Given the description of an element on the screen output the (x, y) to click on. 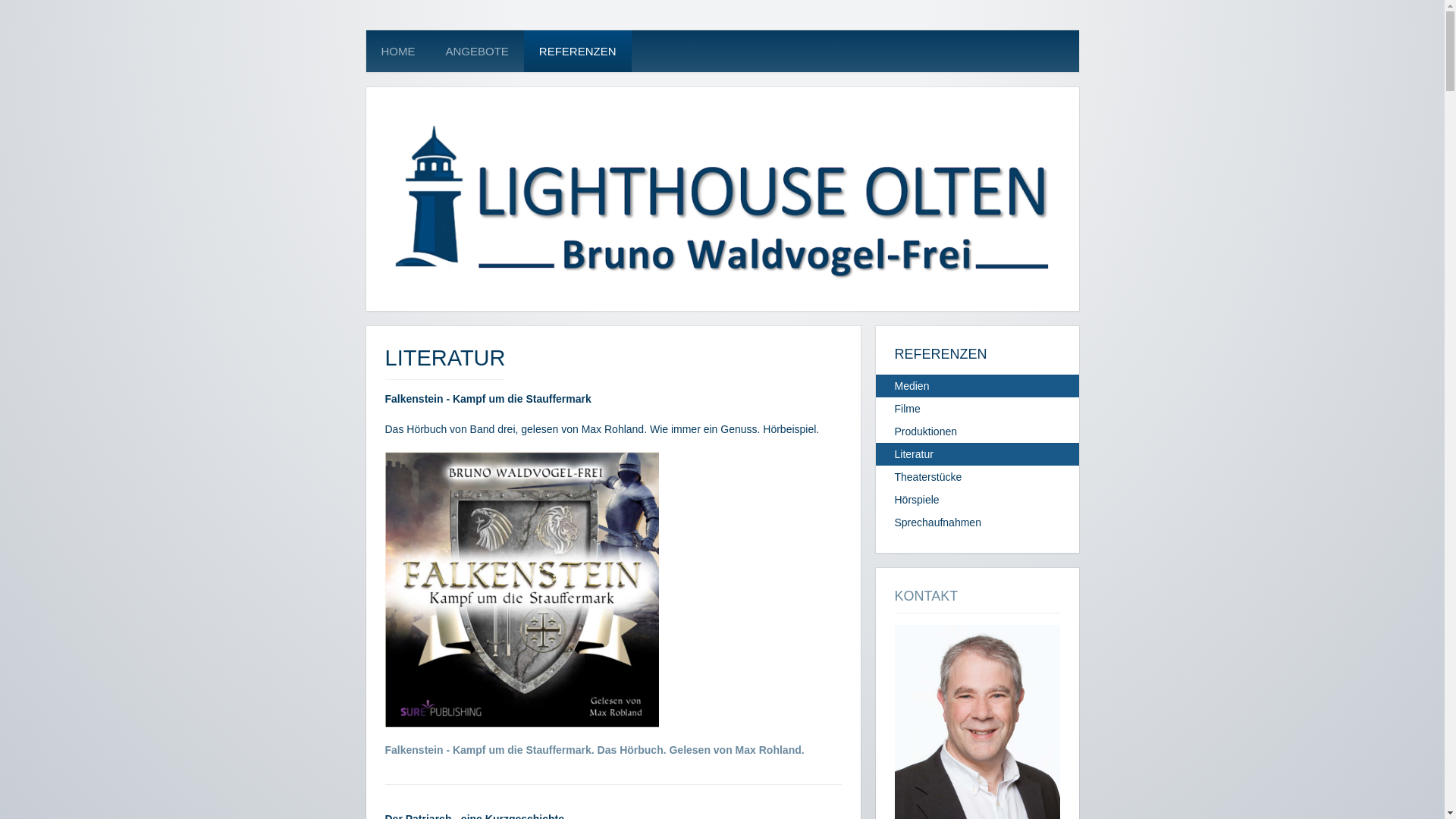
Medien Element type: text (976, 385)
Produktionen Element type: text (976, 431)
Sprechaufnahmen Element type: text (976, 522)
Filme Element type: text (976, 408)
HOME Element type: text (397, 51)
Literatur Element type: text (976, 453)
REFERENZEN Element type: text (577, 51)
ANGEBOTE Element type: text (477, 51)
